Given the description of an element on the screen output the (x, y) to click on. 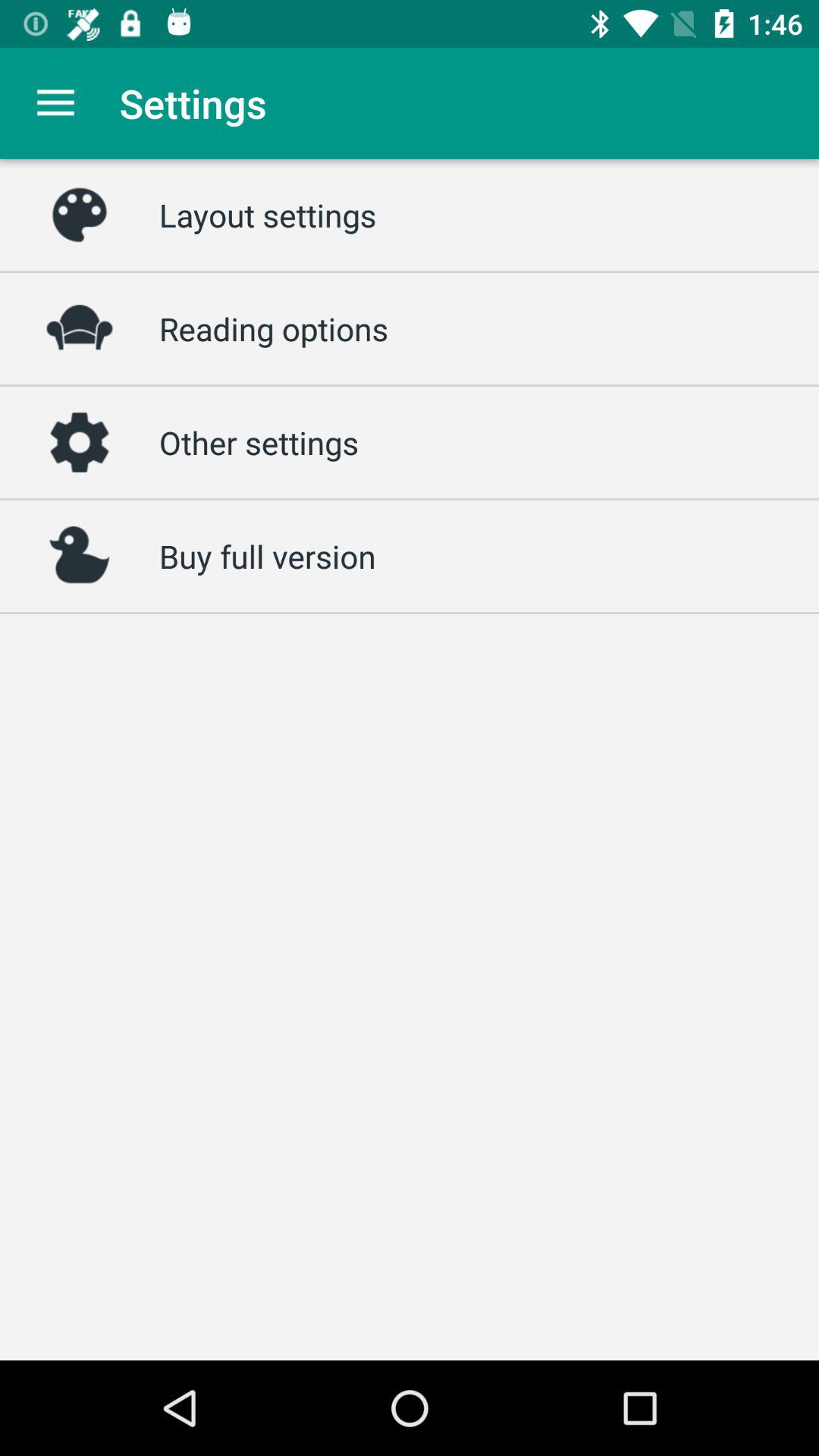
click the icon below the reading options (258, 442)
